Given the description of an element on the screen output the (x, y) to click on. 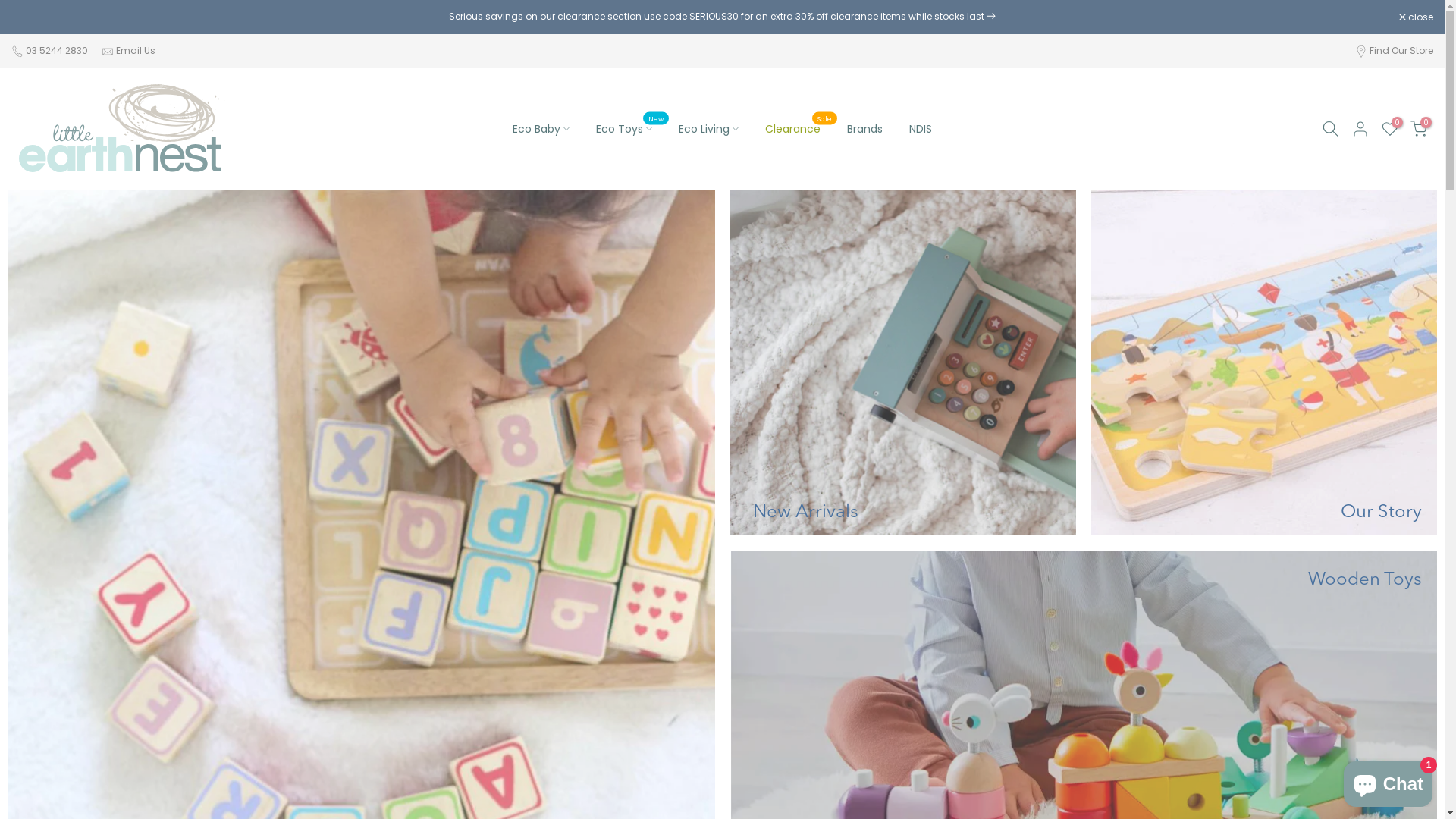
Find Our Store Element type: text (1401, 49)
Eco Toys
New Element type: text (623, 128)
Eco Living Element type: text (708, 128)
close Element type: text (1416, 16)
Email Us Element type: text (135, 50)
Brands Element type: text (864, 128)
0 Element type: text (1418, 128)
Shopify online store chat Element type: hover (1388, 780)
NDIS Element type: text (919, 128)
03 5244 2830 Element type: text (57, 50)
0 Element type: text (1389, 128)
Clearance
Sale Element type: text (792, 128)
Eco Baby Element type: text (540, 128)
